Given the description of an element on the screen output the (x, y) to click on. 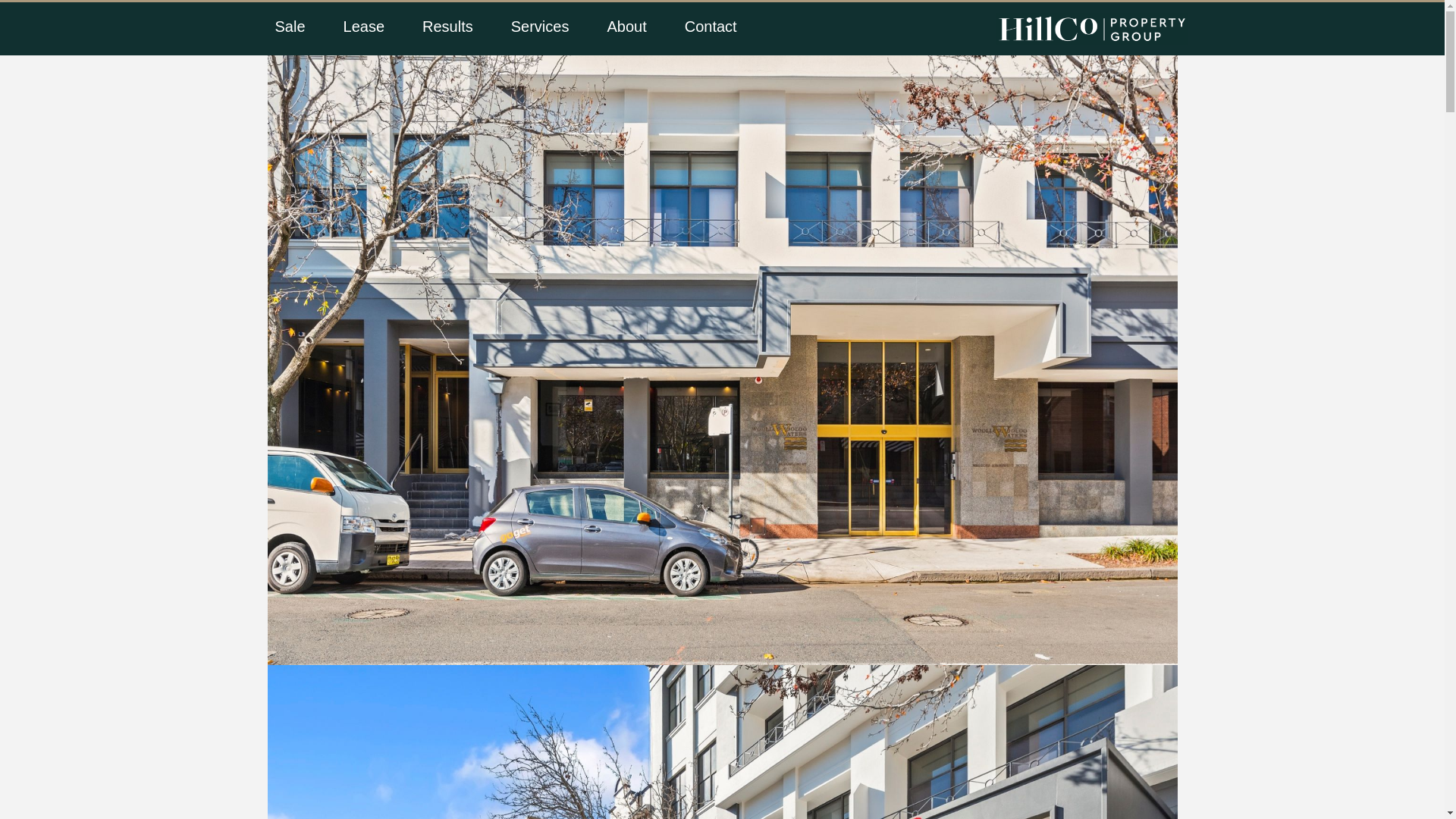
Hillco Property Group -  Element type: hover (1085, 28)
Contact Element type: text (710, 26)
Services Element type: text (540, 26)
Lease Element type: text (364, 26)
Sale Element type: text (290, 26)
Results Element type: text (447, 26)
About Element type: text (626, 26)
